Given the description of an element on the screen output the (x, y) to click on. 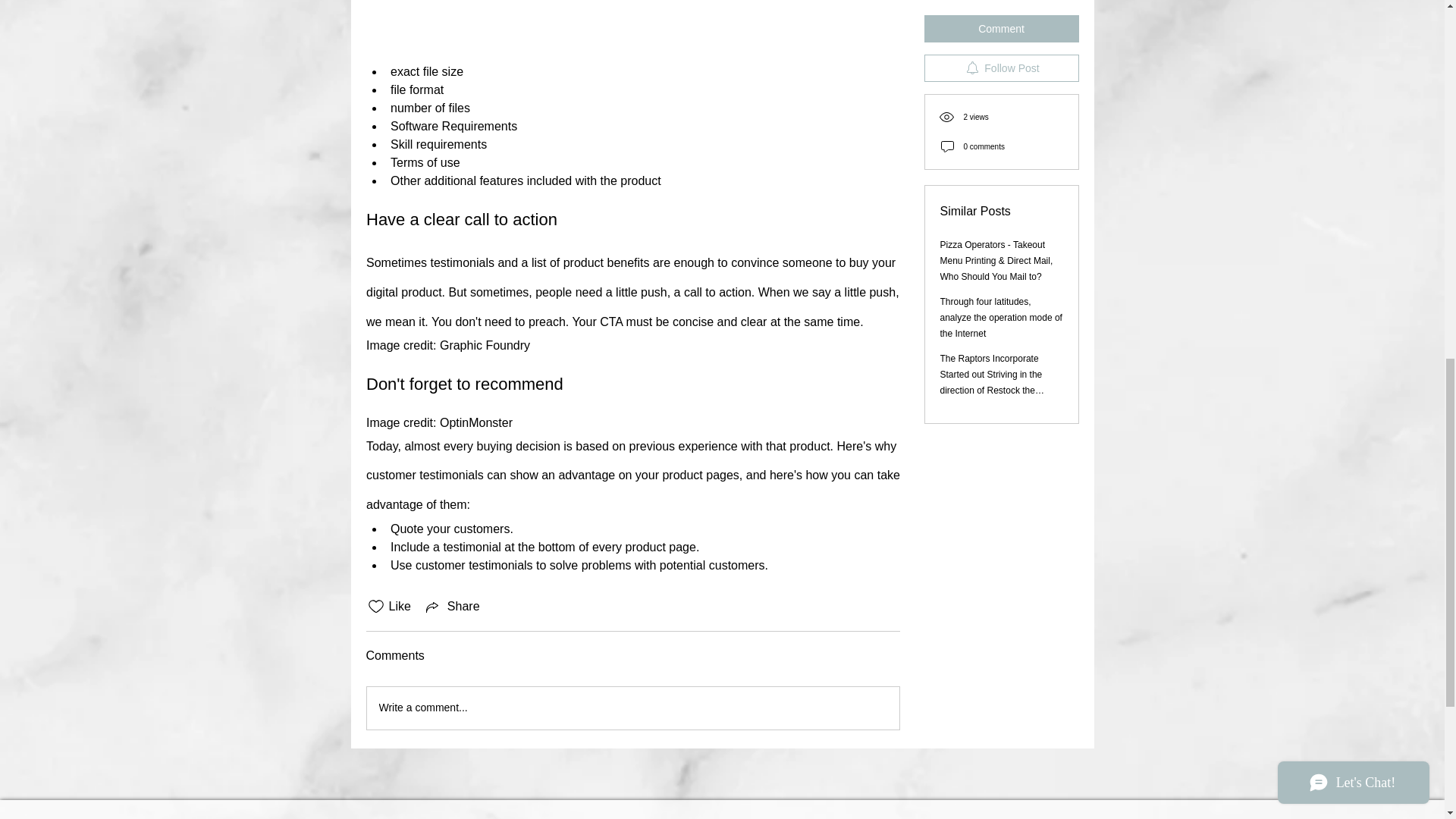
Write a comment... (632, 708)
Share (451, 606)
